Given the description of an element on the screen output the (x, y) to click on. 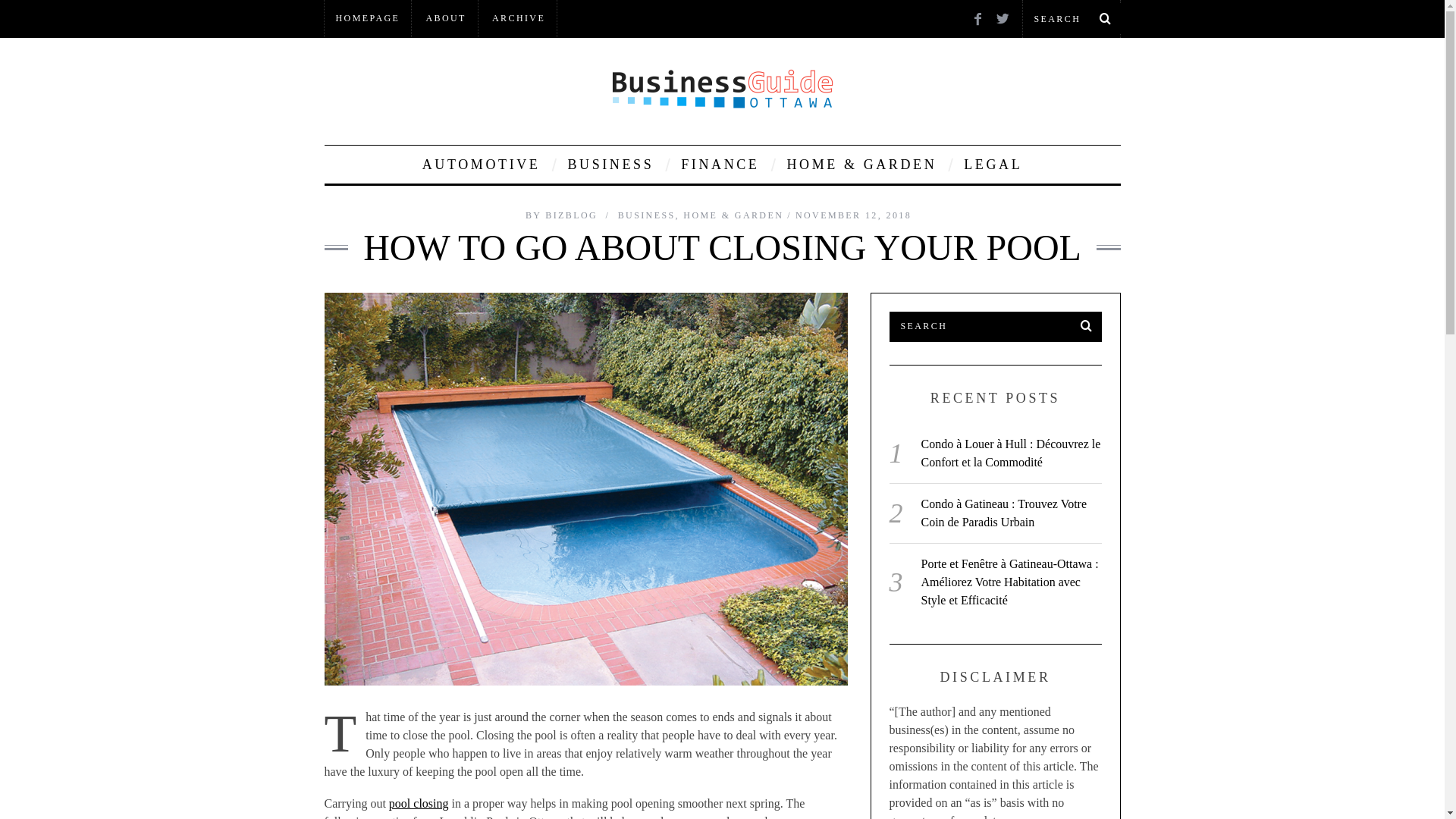
AUTOMOTIVE (480, 164)
ARCHIVE (518, 18)
LEGAL (992, 164)
Search (1071, 18)
HOMEPAGE (368, 18)
FINANCE (719, 164)
Search (994, 327)
ABOUT (445, 18)
BUSINESS (610, 164)
